Given the description of an element on the screen output the (x, y) to click on. 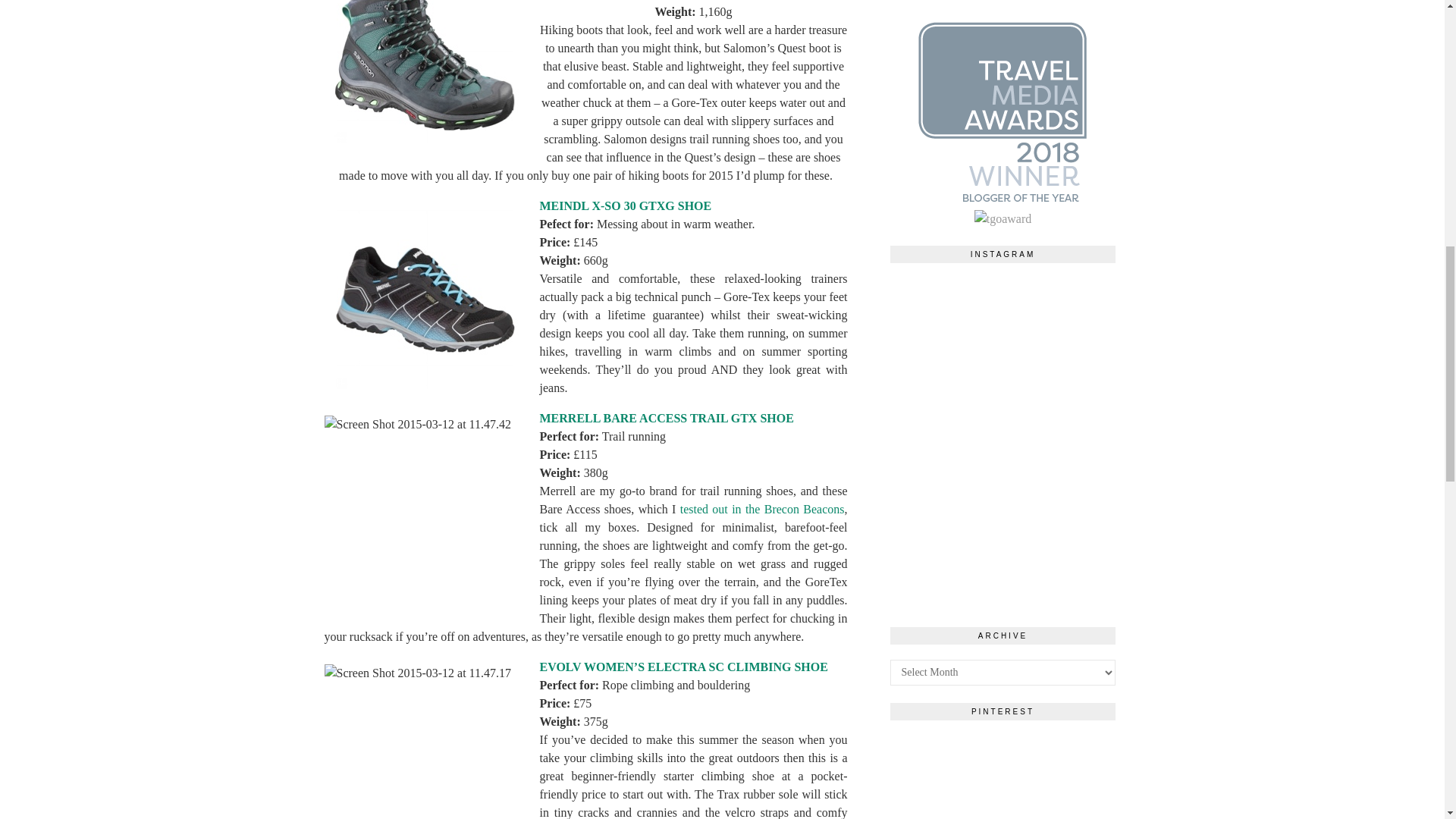
tested out in the Brecon Beacons (761, 508)
MERRELL BARE ACCESS TRAIL GTX SHOE (666, 417)
MEINDL X-SO 30 GTXG SHOE (625, 205)
